Given the description of an element on the screen output the (x, y) to click on. 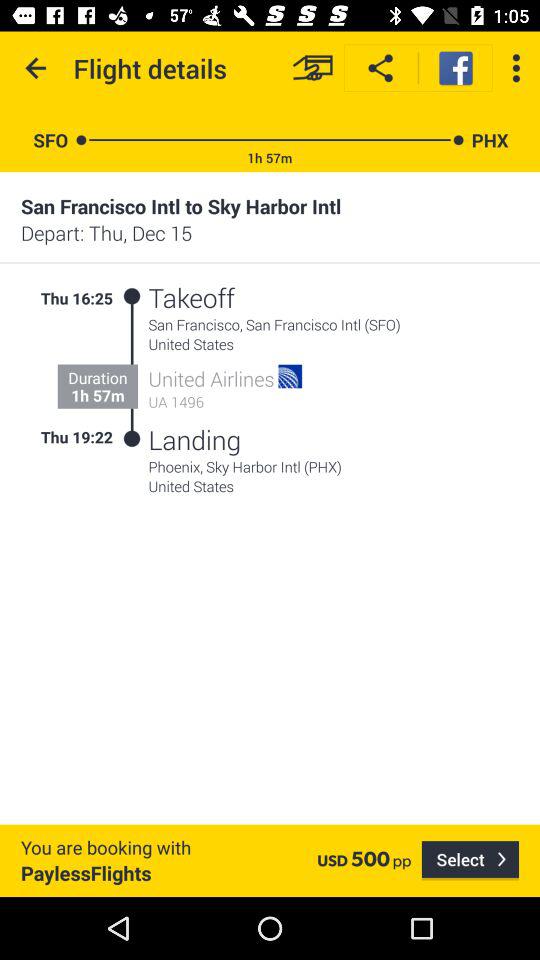
click item next to flight details (312, 67)
